Given the description of an element on the screen output the (x, y) to click on. 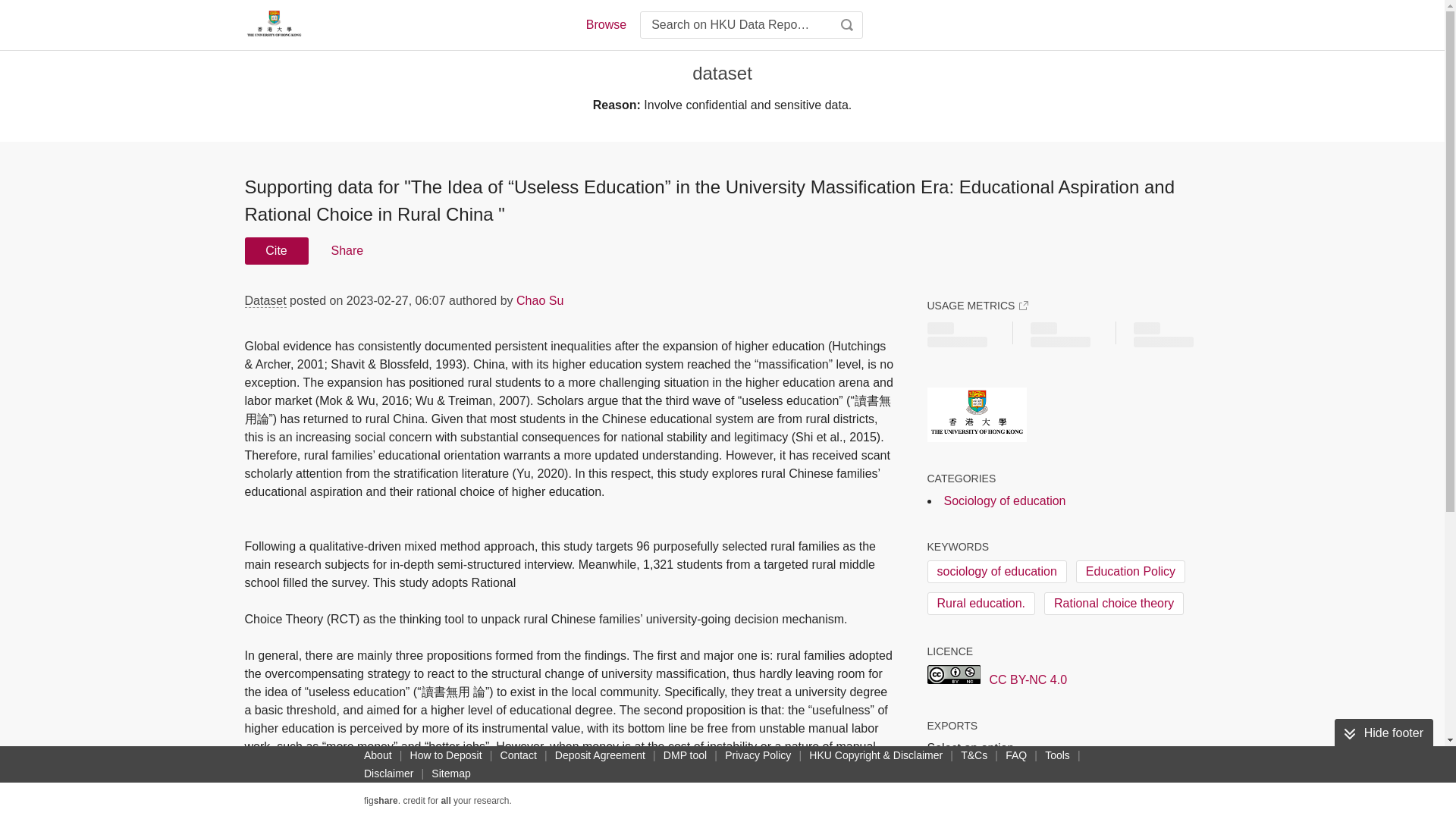
USAGE METRICS (976, 305)
Contact (518, 755)
Sociology of education (1004, 500)
Chao Su (539, 300)
Cite (275, 250)
How to Deposit (446, 755)
FAQ (1015, 755)
DMP tool (685, 755)
CC BY-NC 4.0 (996, 677)
Rural education. (980, 603)
